Given the description of an element on the screen output the (x, y) to click on. 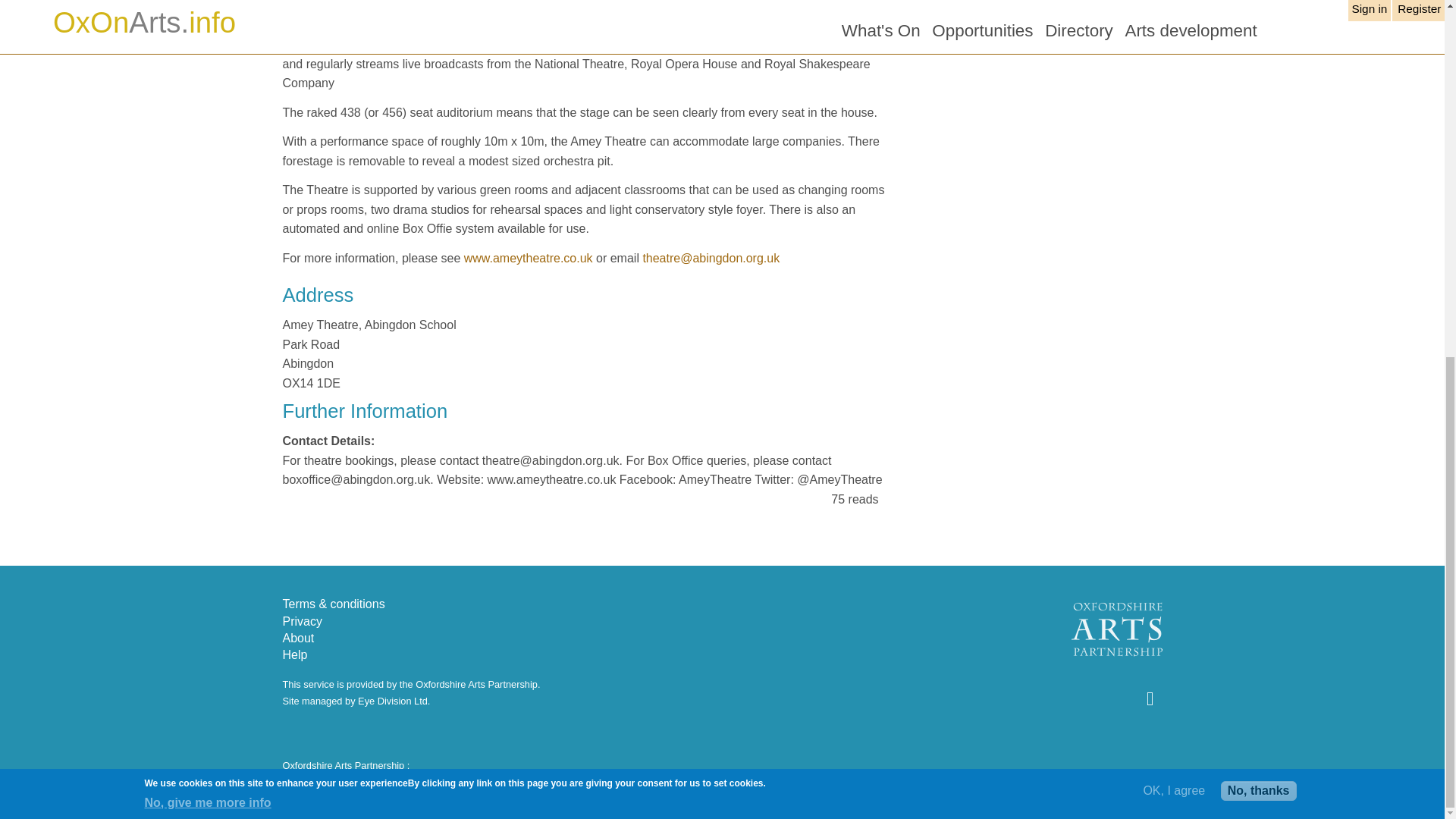
West Oxfordshire District Council (1014, 781)
Vale of the White Horse District Council (851, 781)
Help (294, 654)
South Oxfordshire District Council (685, 781)
Oxford City Council (437, 781)
Cherwell District Council (334, 781)
About (298, 637)
OK, I agree (1174, 162)
www.ameytheatre.co.uk (528, 257)
Eye Division Ltd. (393, 700)
